Given the description of an element on the screen output the (x, y) to click on. 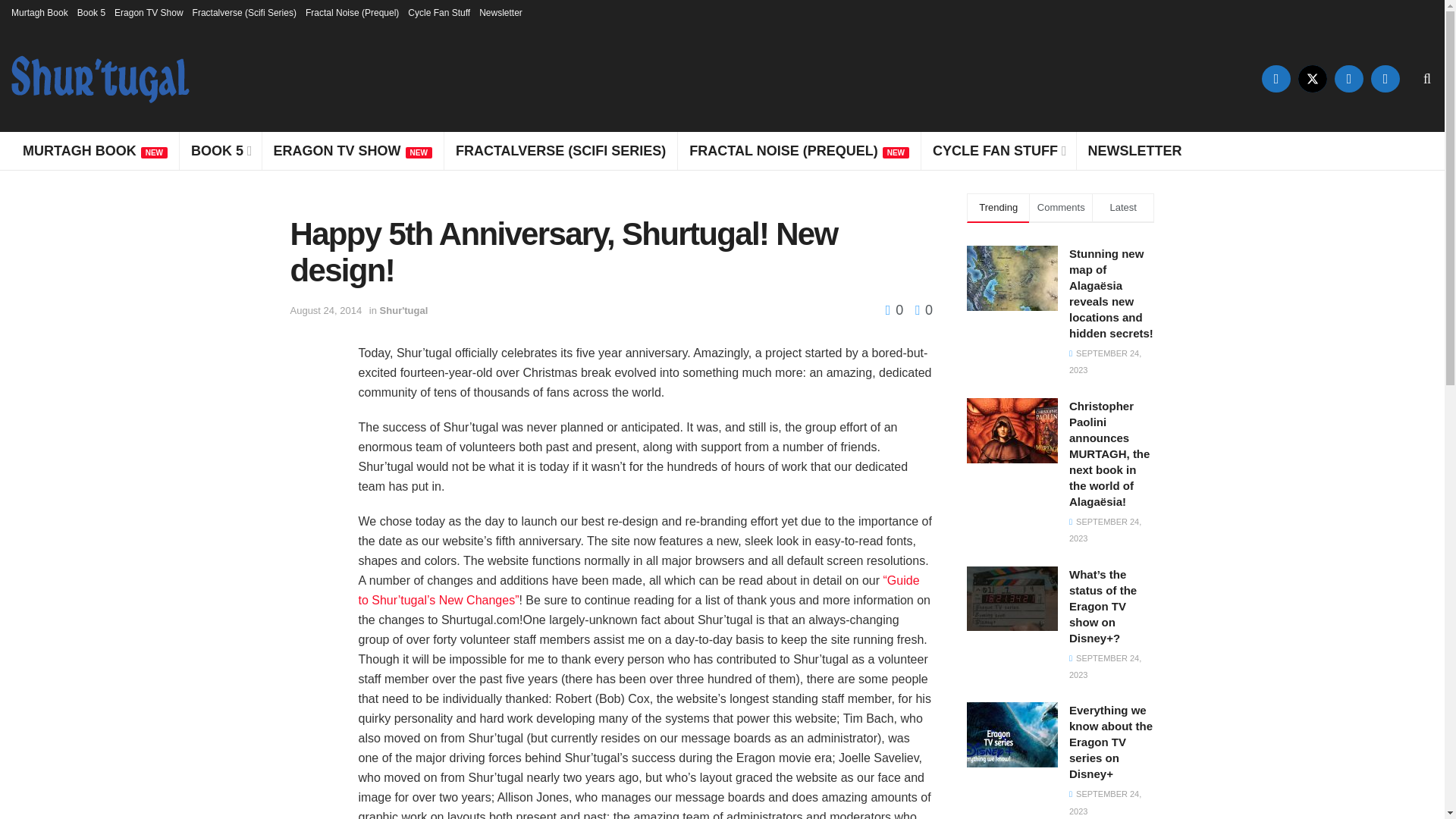
Cycle Fan Stuff (438, 12)
BOOK 5 (220, 150)
Book 5 (90, 12)
Murtagh Book (39, 12)
CYCLE FAN STUFF (997, 150)
Eragon TV Show (149, 12)
MURTAGH BOOKNEW (94, 150)
Newsletter (500, 12)
ERAGON TV SHOWNEW (352, 150)
